Given the description of an element on the screen output the (x, y) to click on. 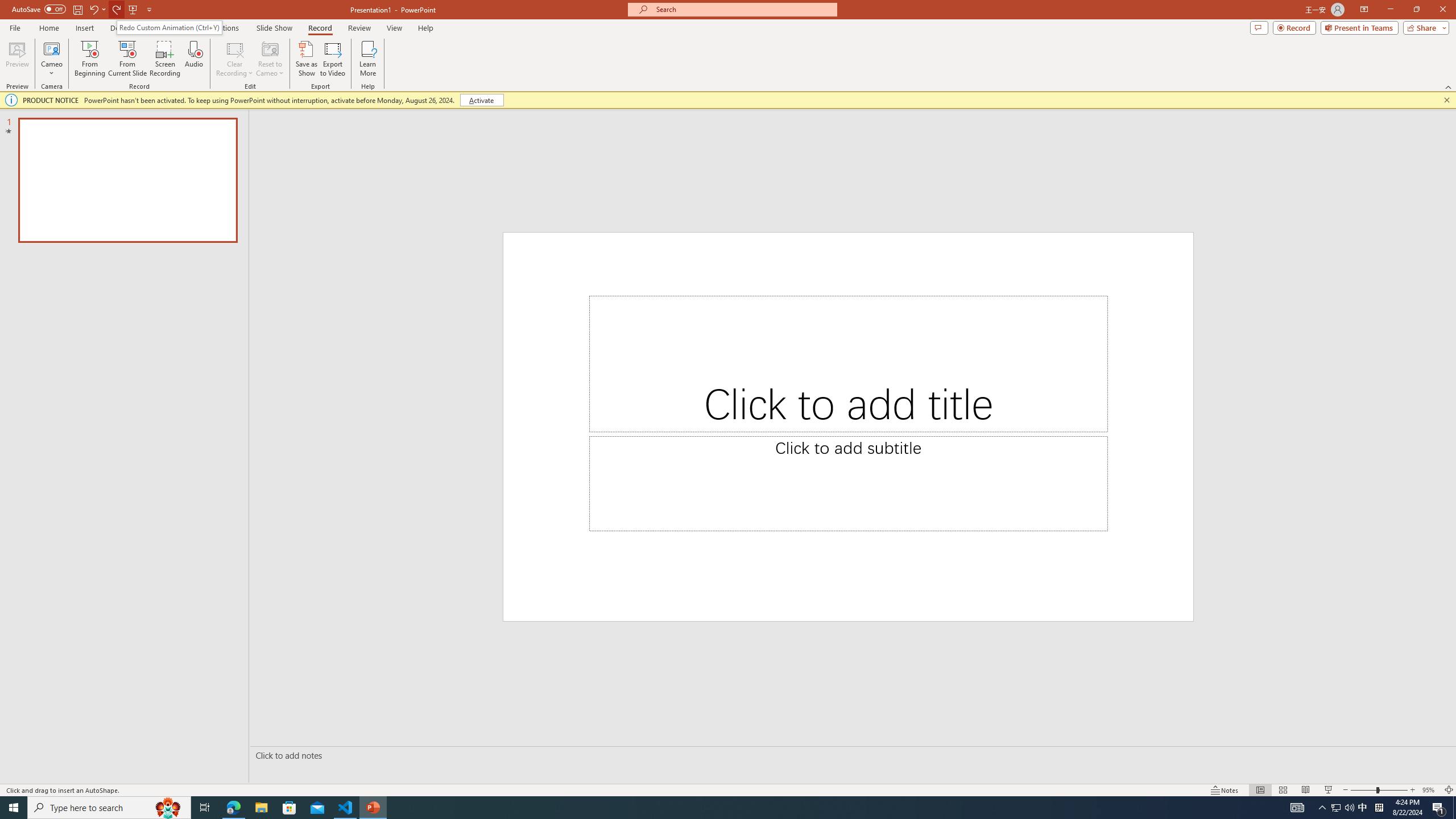
Redo Custom Animation (Ctrl+Y) (169, 27)
Audio (193, 58)
Clear Recording (234, 58)
From Current Slide... (127, 58)
